Given the description of an element on the screen output the (x, y) to click on. 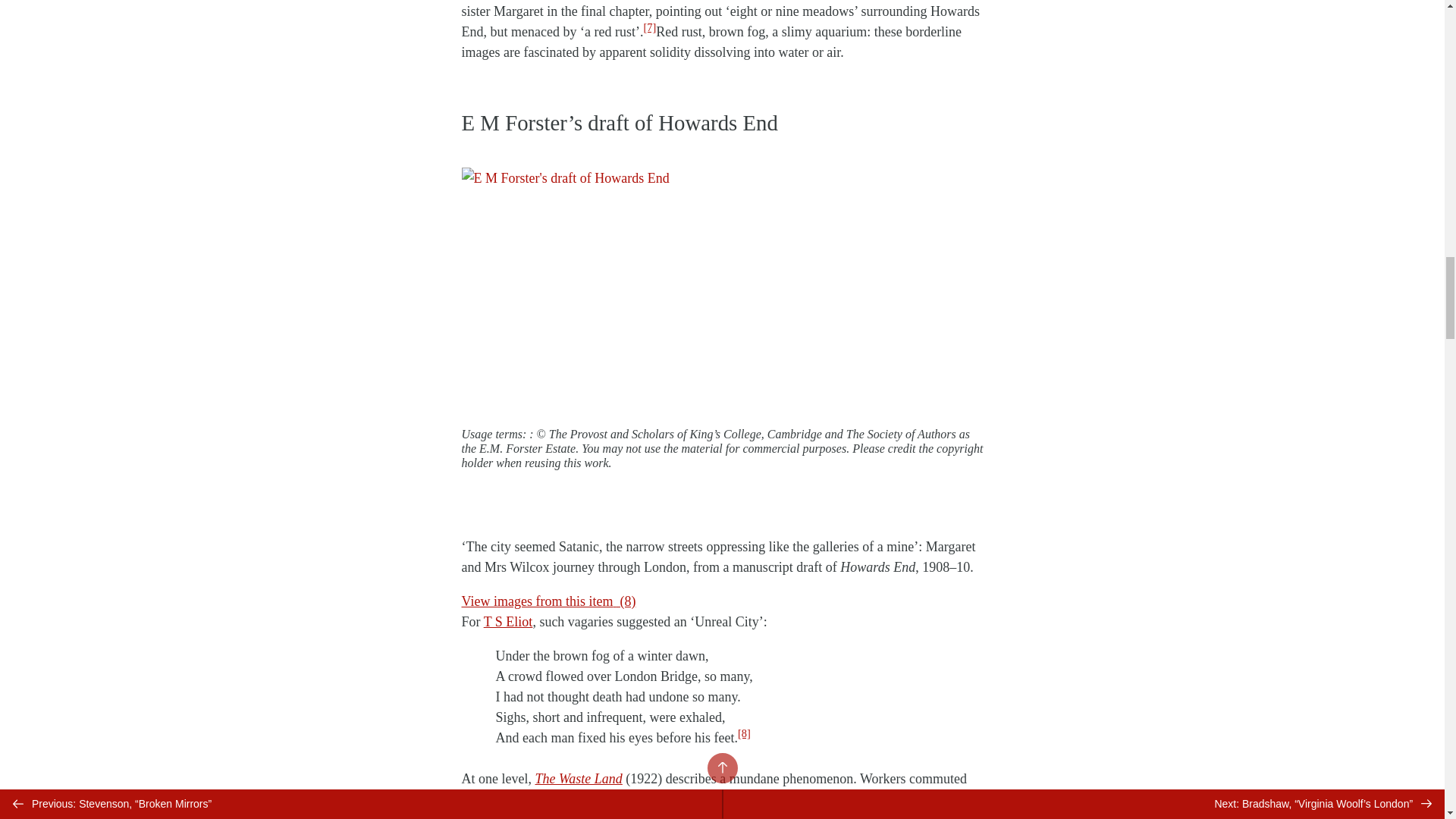
The Waste Land (577, 778)
T S Eliot (507, 621)
